Given the description of an element on the screen output the (x, y) to click on. 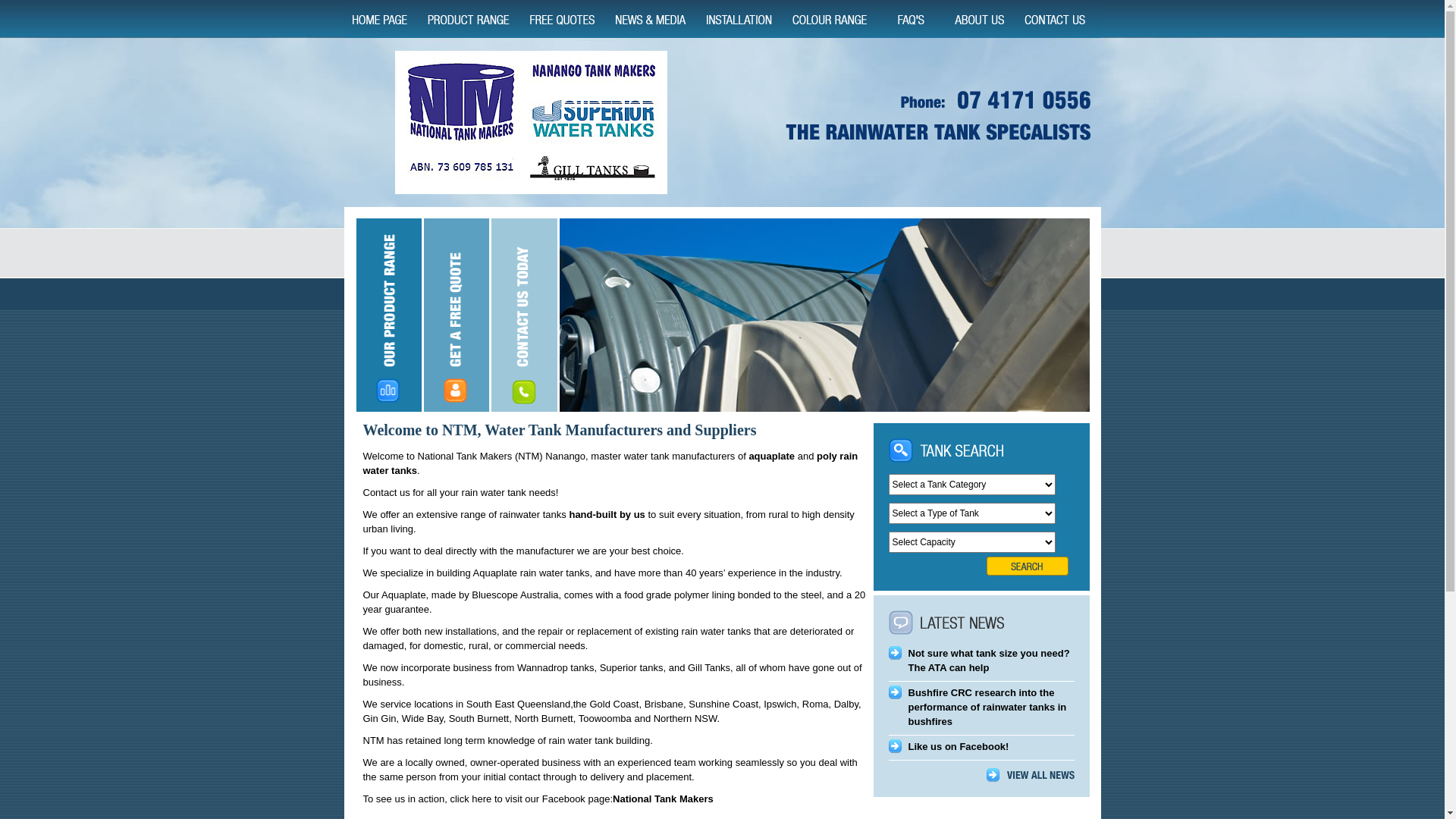
Nanango Tank Makers Element type: hover (943, 117)
Like us on Facebook! Element type: text (958, 746)
aquaplate Element type: text (771, 455)
National Tank Makers Element type: text (662, 798)
rain water tanks Element type: text (609, 463)
Not sure what tank size you need? The ATA can help Element type: text (989, 660)
poly Element type: text (826, 455)
Nanango Tank Makers Element type: hover (530, 122)
